Given the description of an element on the screen output the (x, y) to click on. 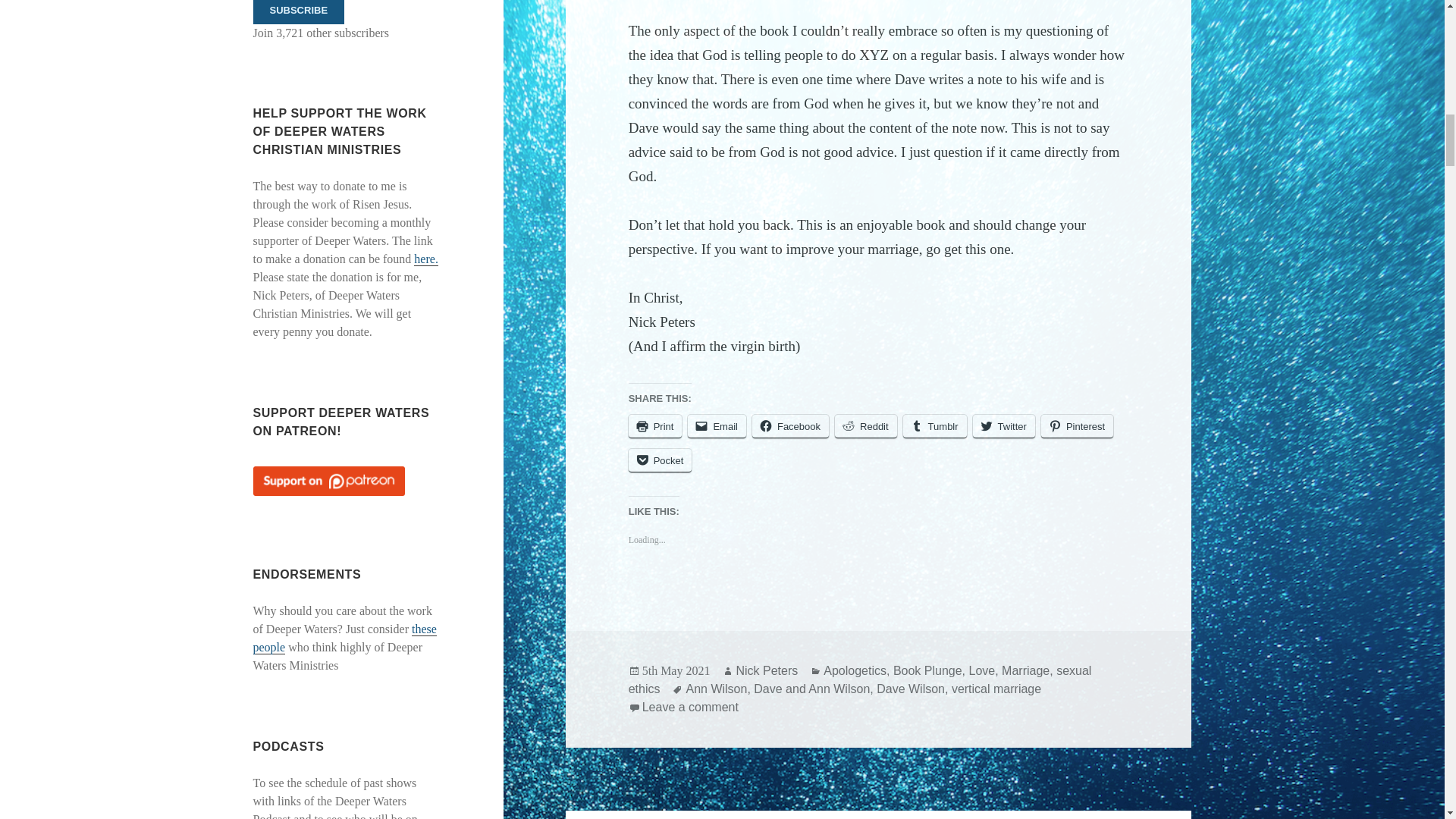
Click to email a link to a friend (716, 426)
Click to print (655, 426)
these people (344, 638)
Click to share on Pinterest (1077, 426)
here. (425, 259)
Click to share on Facebook (790, 426)
Click to share on Tumblr (934, 426)
SUBSCRIBE (299, 12)
Click to share on Pocket (660, 460)
Click to share on Twitter (1003, 426)
Click to share on Reddit (865, 426)
